Given the description of an element on the screen output the (x, y) to click on. 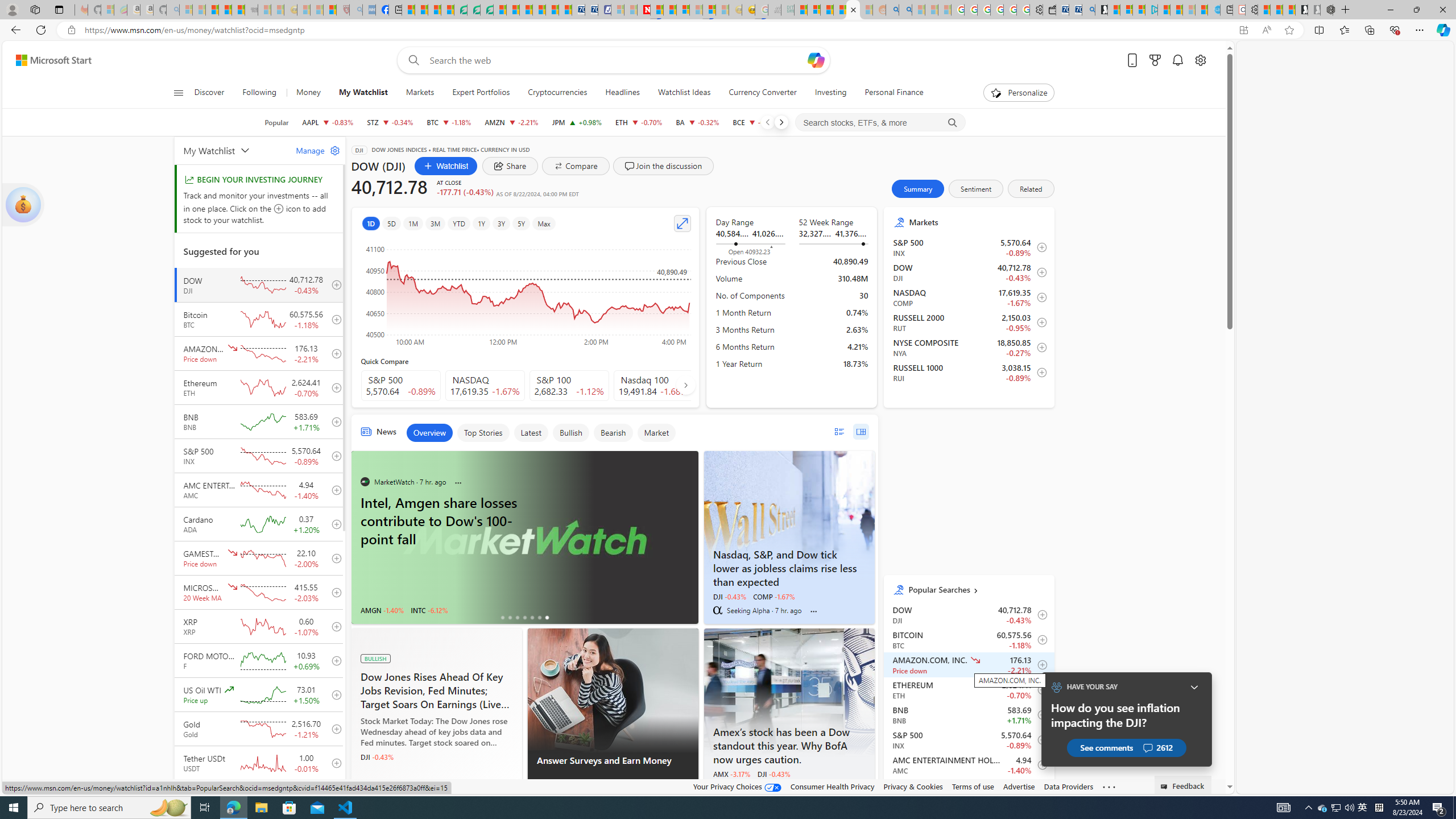
DJI DOW decrease 40,712.78 -177.71 -0.43% itemundefined (968, 614)
Answer Surveys and Earn Money (611, 766)
3M (435, 223)
DJI -0.43% (773, 773)
Watchlist Ideas (684, 92)
